Given the description of an element on the screen output the (x, y) to click on. 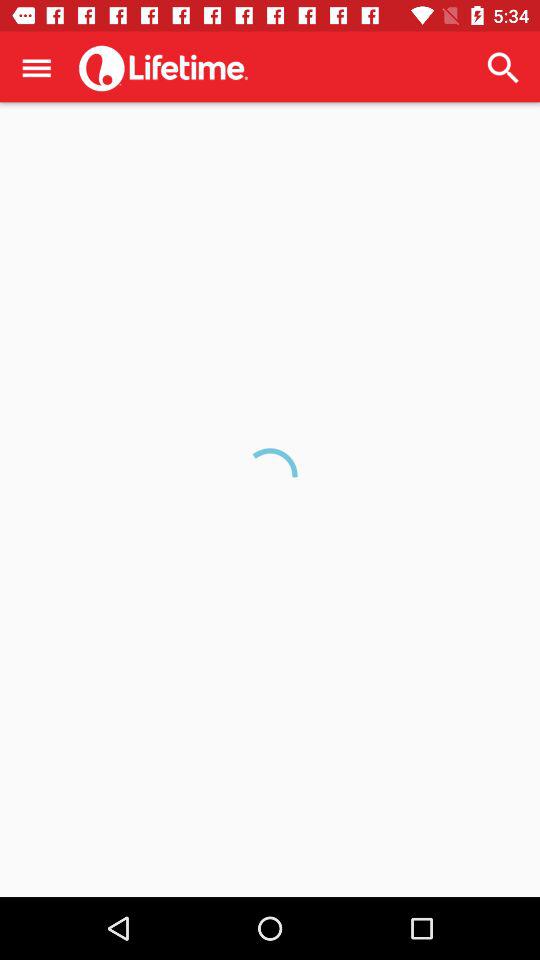
turn on icon at the top left corner (36, 67)
